Given the description of an element on the screen output the (x, y) to click on. 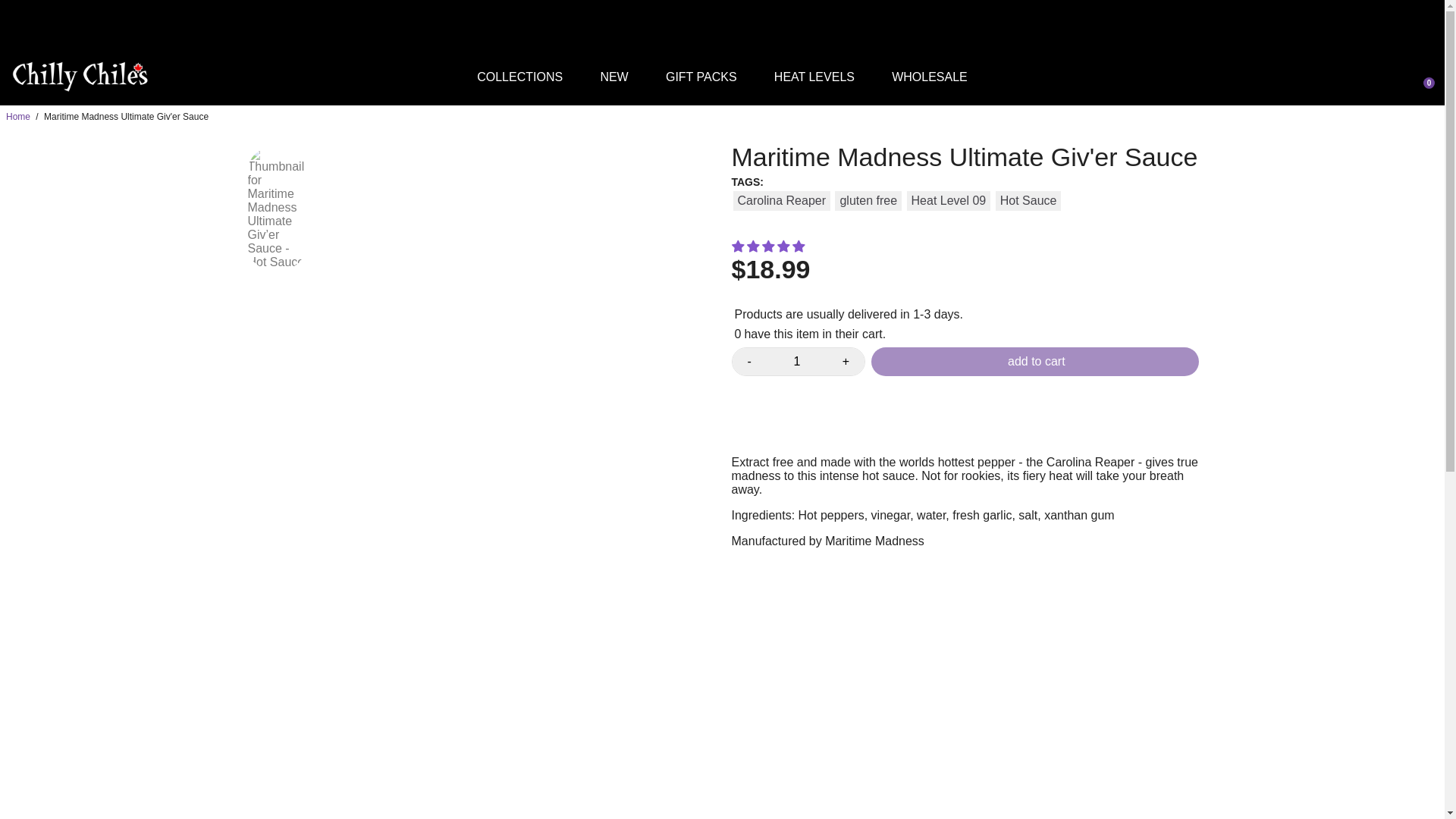
1 (797, 361)
COLLECTIONS (519, 76)
Home (17, 116)
